Given the description of an element on the screen output the (x, y) to click on. 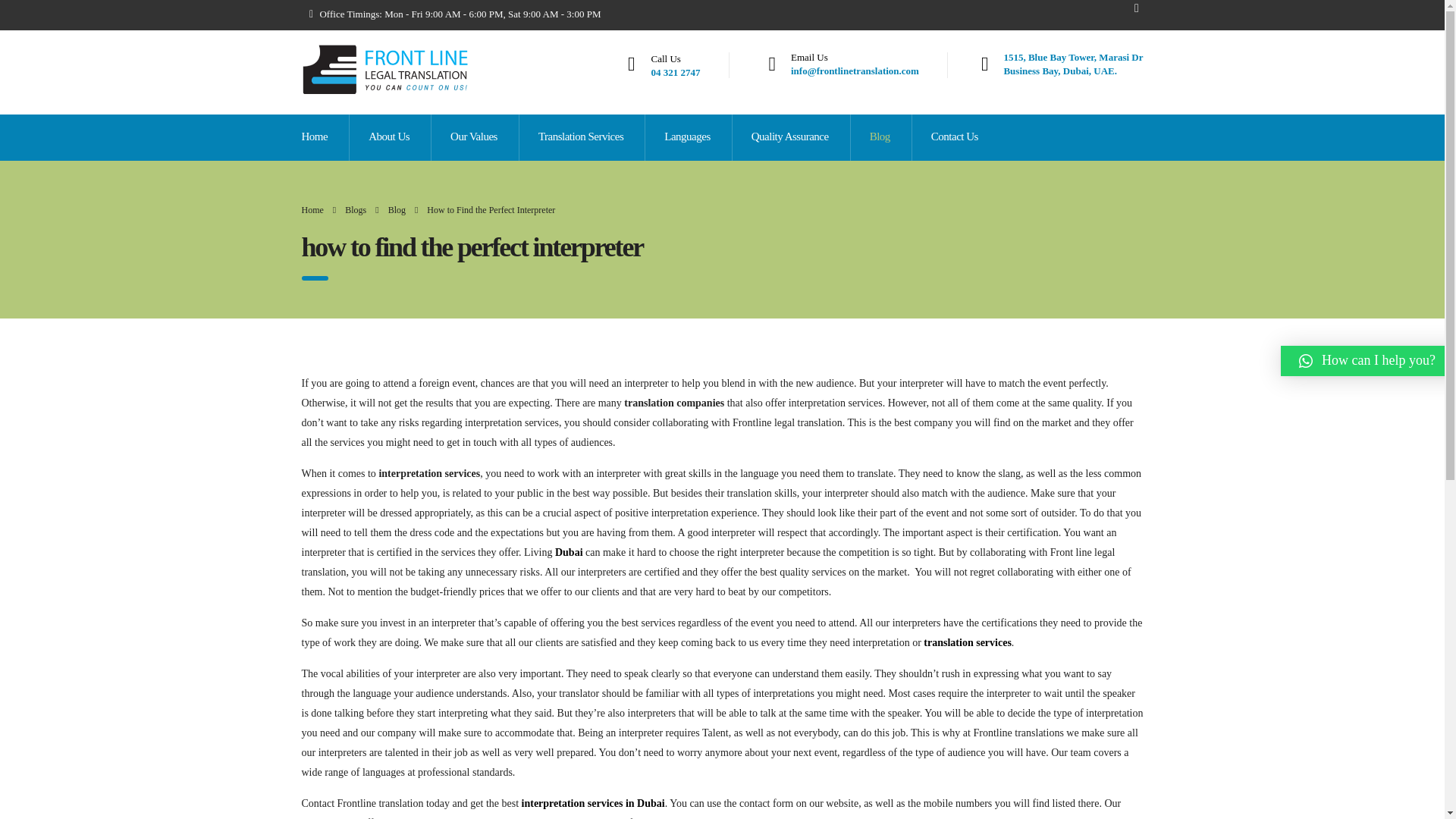
Translation Services (581, 137)
04 321 2747 (675, 71)
About Us (389, 137)
Go to the Blog category archives. (397, 209)
Languages (687, 137)
Contact Us (954, 137)
Home (312, 209)
Blog (880, 137)
interpretation services in Dubai (593, 803)
Go to Blogs. (355, 209)
Quality Assurance (791, 137)
Go to Frontline. (312, 209)
Our Values (1072, 63)
translation services (474, 137)
